Given the description of an element on the screen output the (x, y) to click on. 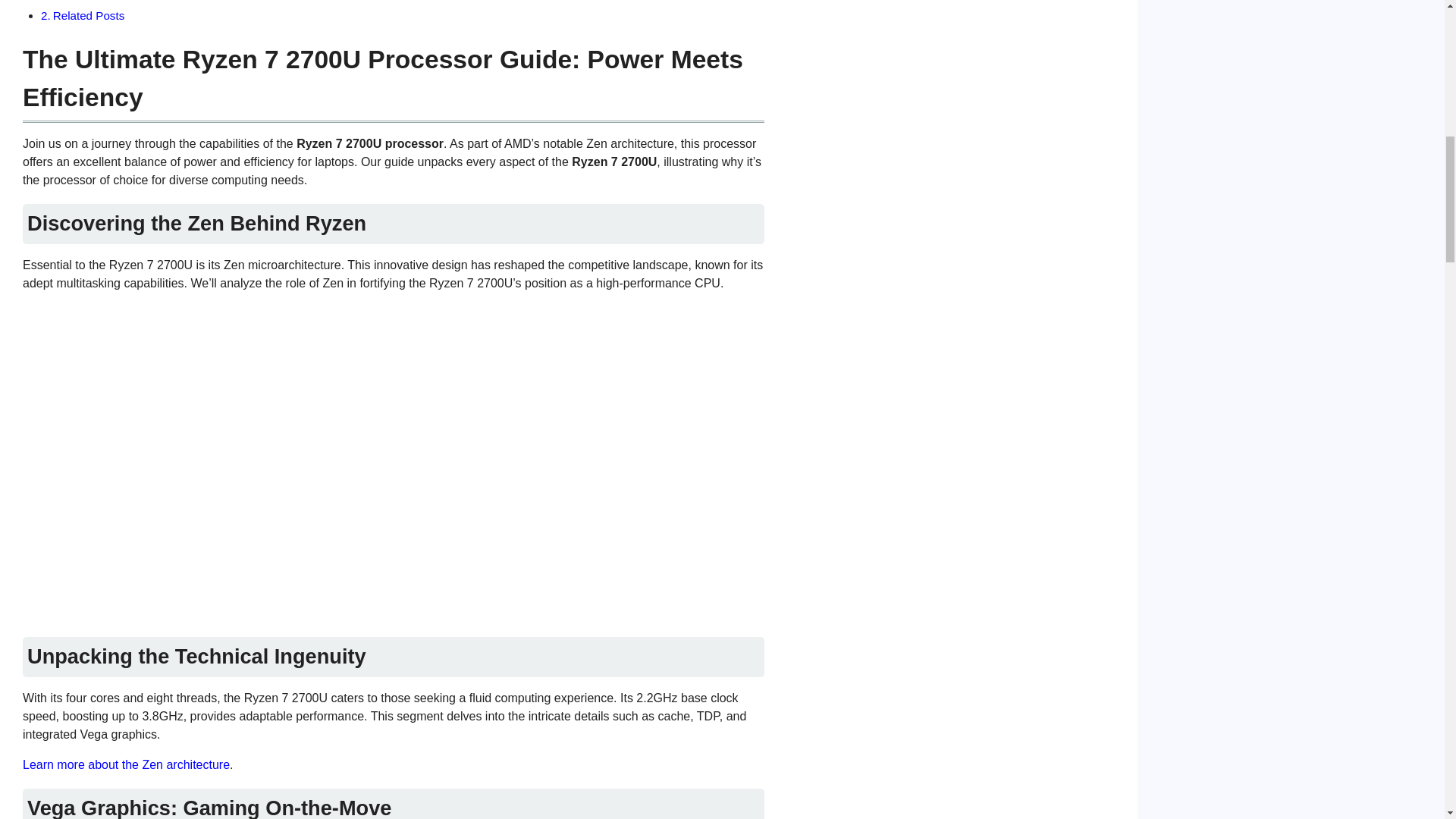
Learn more about the Zen architecture (126, 764)
Related Posts (88, 15)
Related Posts (88, 15)
